Given the description of an element on the screen output the (x, y) to click on. 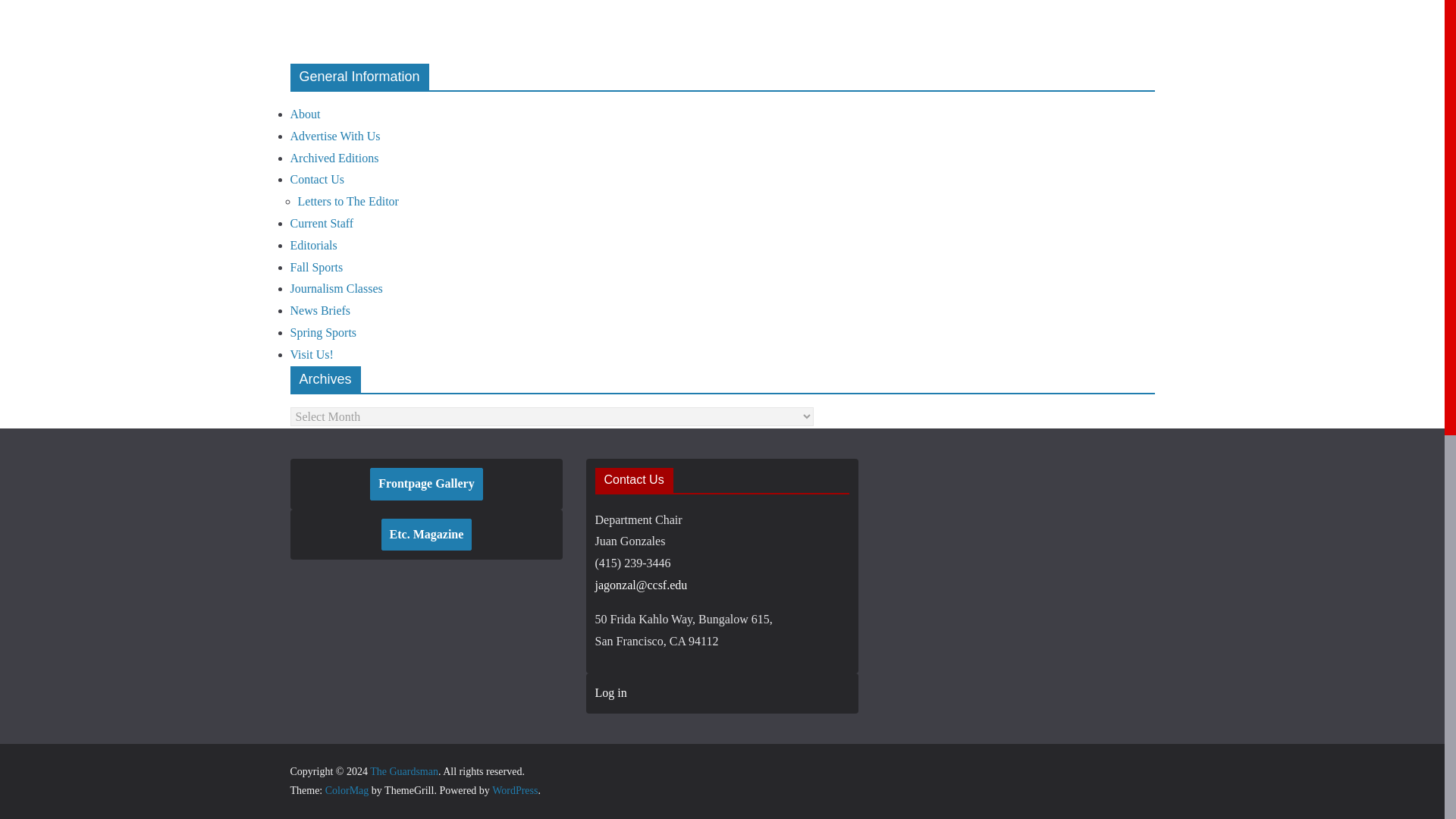
Current Staff (321, 223)
Journalism Classes (335, 287)
Contact Us (316, 178)
Archived Editions (333, 157)
Editorials (312, 245)
Visit Us! (311, 354)
ColorMag (346, 790)
About (304, 113)
WordPress (514, 790)
The Guardsman (403, 771)
